Given the description of an element on the screen output the (x, y) to click on. 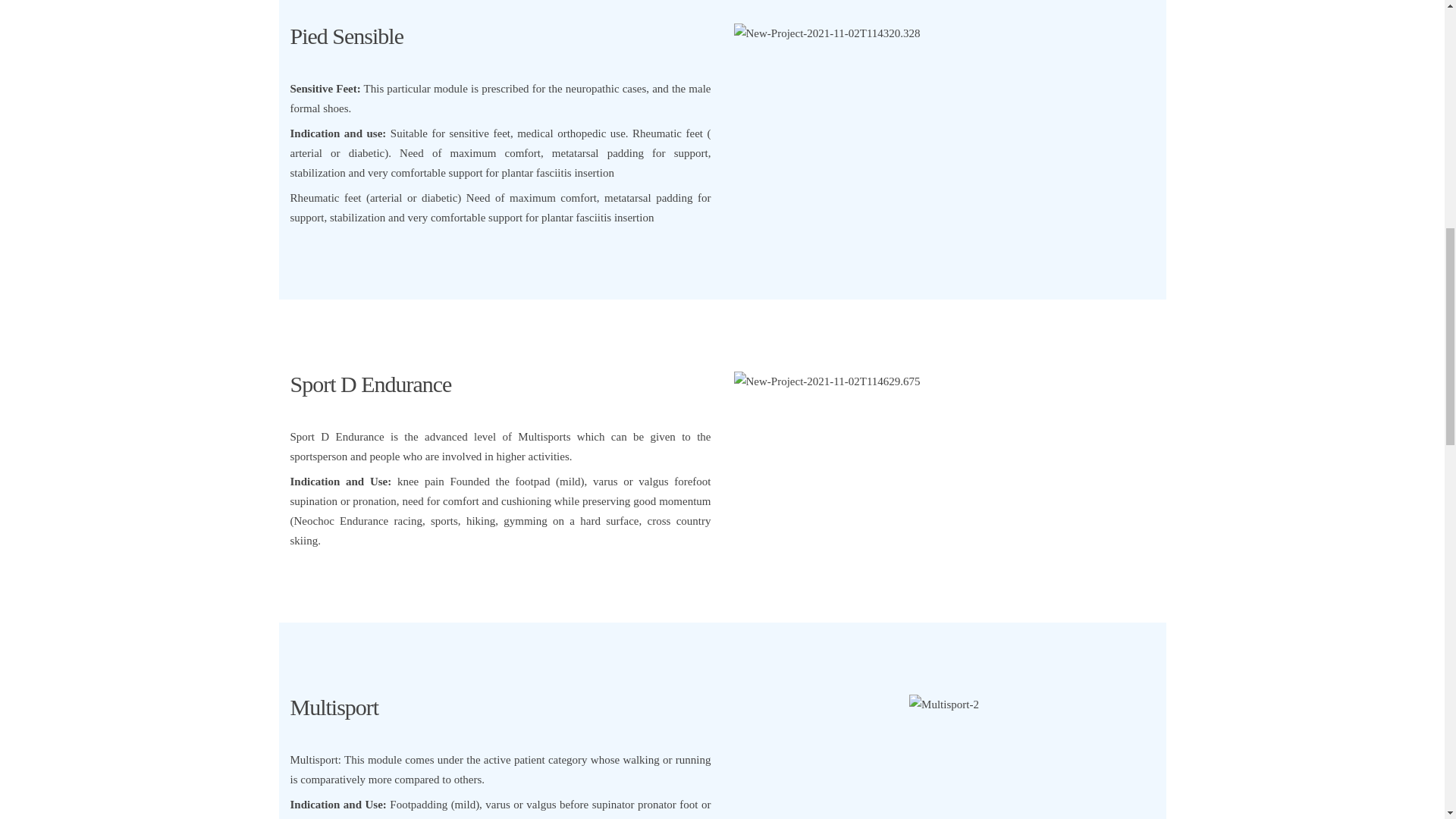
New-Project-2021-11-02T114629.675 (826, 381)
Multisport-2 (943, 704)
New-Project-2021-11-02T114320.328 (826, 33)
